Given the description of an element on the screen output the (x, y) to click on. 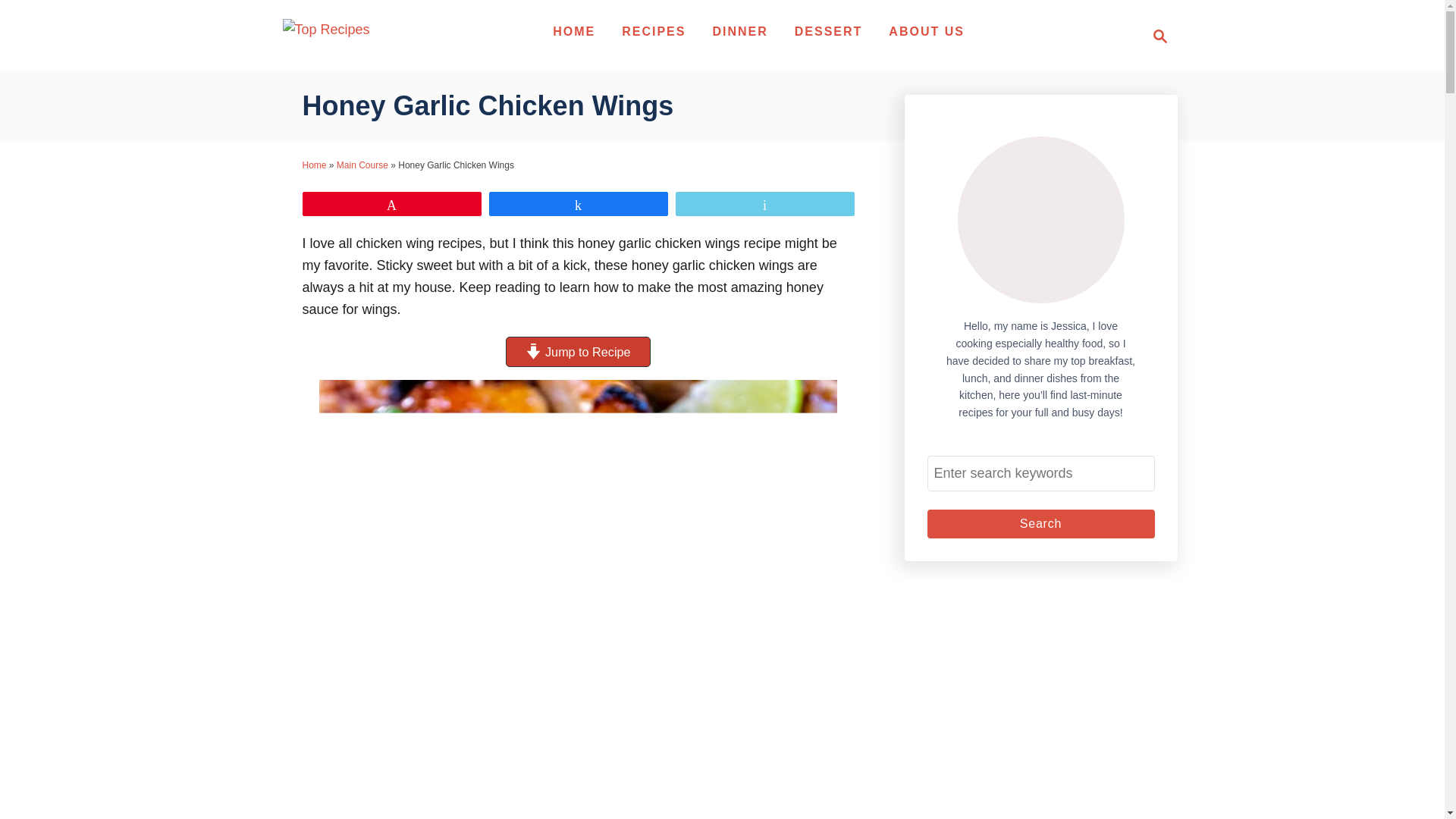
RECIPES (653, 31)
Jump to Recipe (1155, 36)
Search (577, 351)
DINNER (1040, 523)
Jump to Recipe (739, 31)
ABOUT US (577, 351)
Home (926, 31)
Main Course (313, 164)
DESSERT (362, 164)
Magnifying Glass (828, 31)
HOME (1160, 36)
Search for: (573, 31)
Search (1040, 473)
Top Recipes (1040, 523)
